Given the description of an element on the screen output the (x, y) to click on. 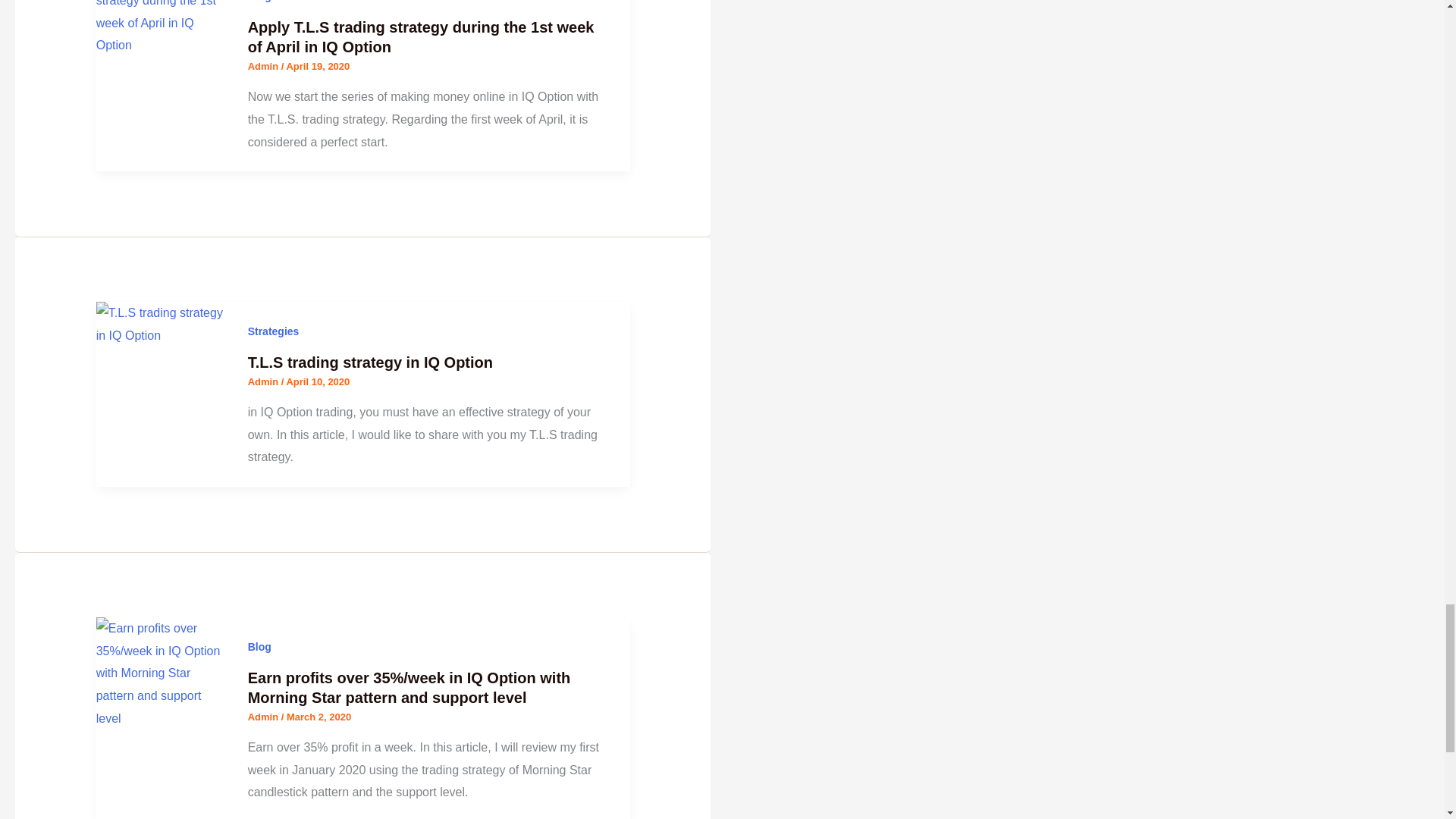
View all posts by Admin (264, 716)
View all posts by Admin (264, 66)
View all posts by Admin (264, 381)
